Given the description of an element on the screen output the (x, y) to click on. 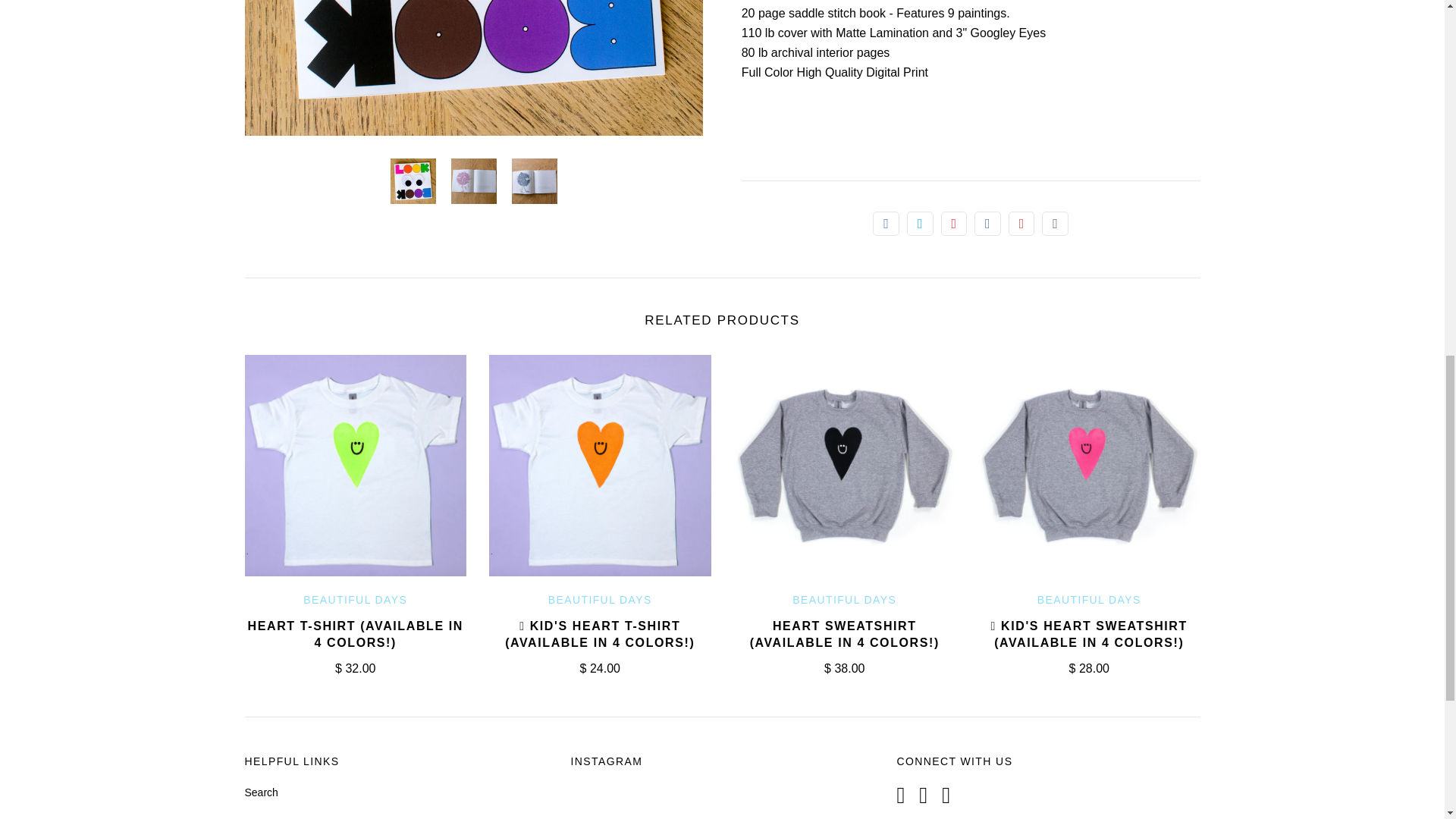
Email (1055, 223)
Tweet (920, 223)
Fancy (987, 223)
Beautiful Days (844, 599)
BEAUTIFUL DAYS (844, 599)
Like (885, 223)
BEAUTIFUL DAYS (600, 599)
Beautiful Days (354, 599)
BEAUTIFUL DAYS (354, 599)
Beautiful Days (1088, 599)
